Given the description of an element on the screen output the (x, y) to click on. 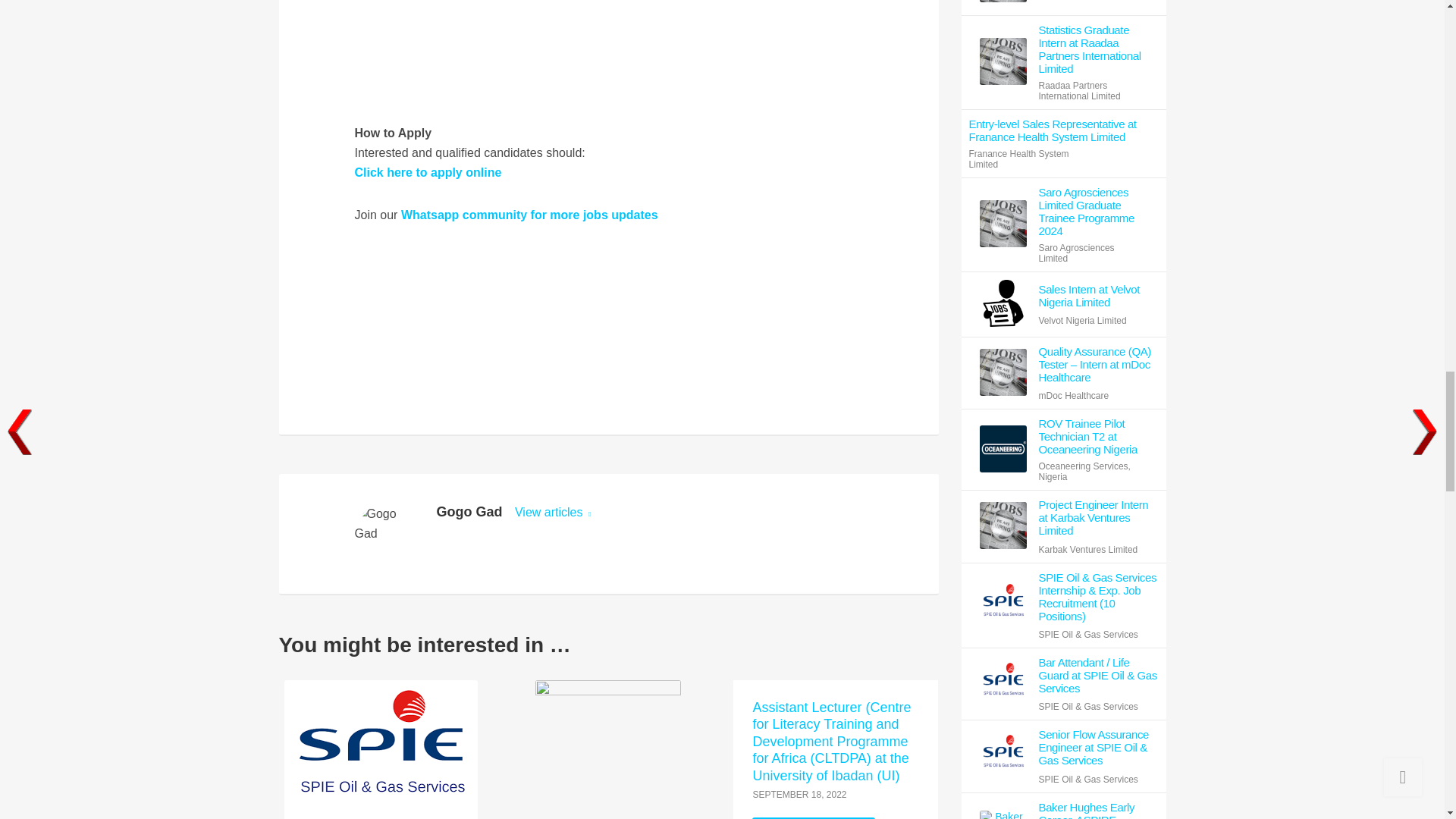
Click here to apply online (428, 172)
Read More (813, 818)
View articles (553, 512)
Whatsapp community for more jobs updates (529, 214)
